Given the description of an element on the screen output the (x, y) to click on. 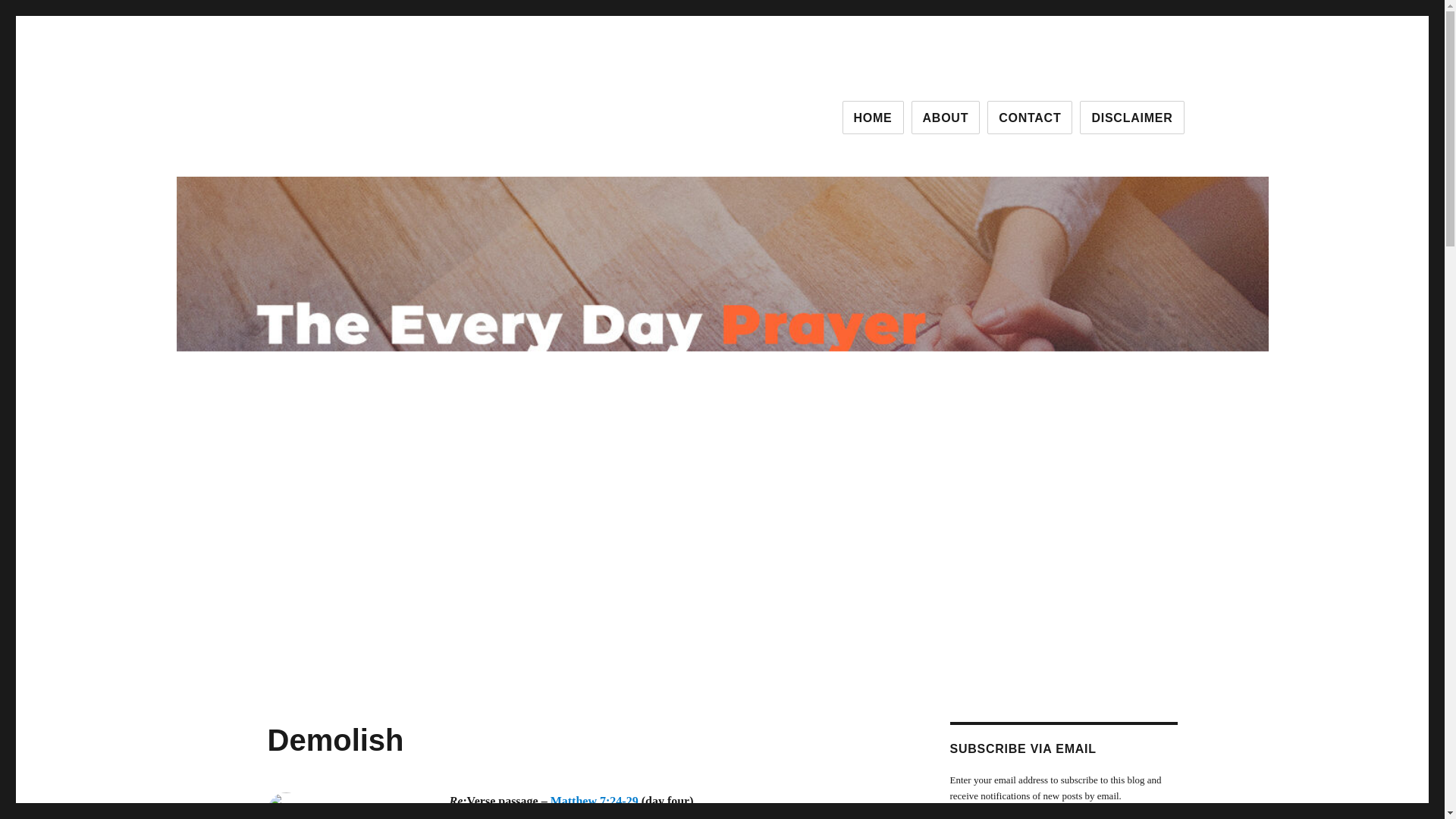
CONTACT (1029, 117)
HOME (873, 117)
DISCLAIMER (1131, 117)
Matthew 7:24-29 (594, 800)
The Everyday Prayer (371, 114)
ABOUT (945, 117)
